Given the description of an element on the screen output the (x, y) to click on. 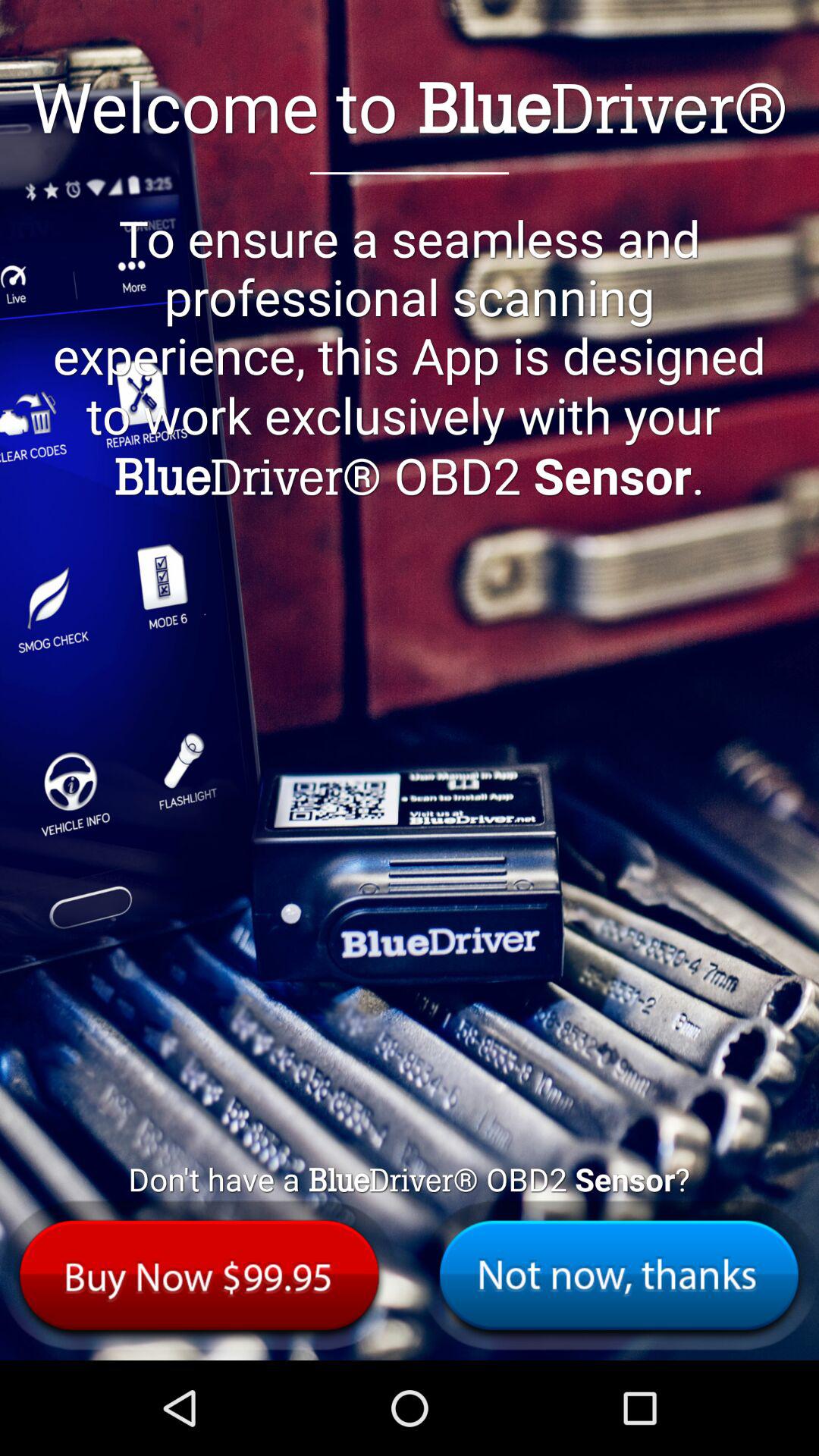
tap the item below the don t have item (199, 1275)
